Given the description of an element on the screen output the (x, y) to click on. 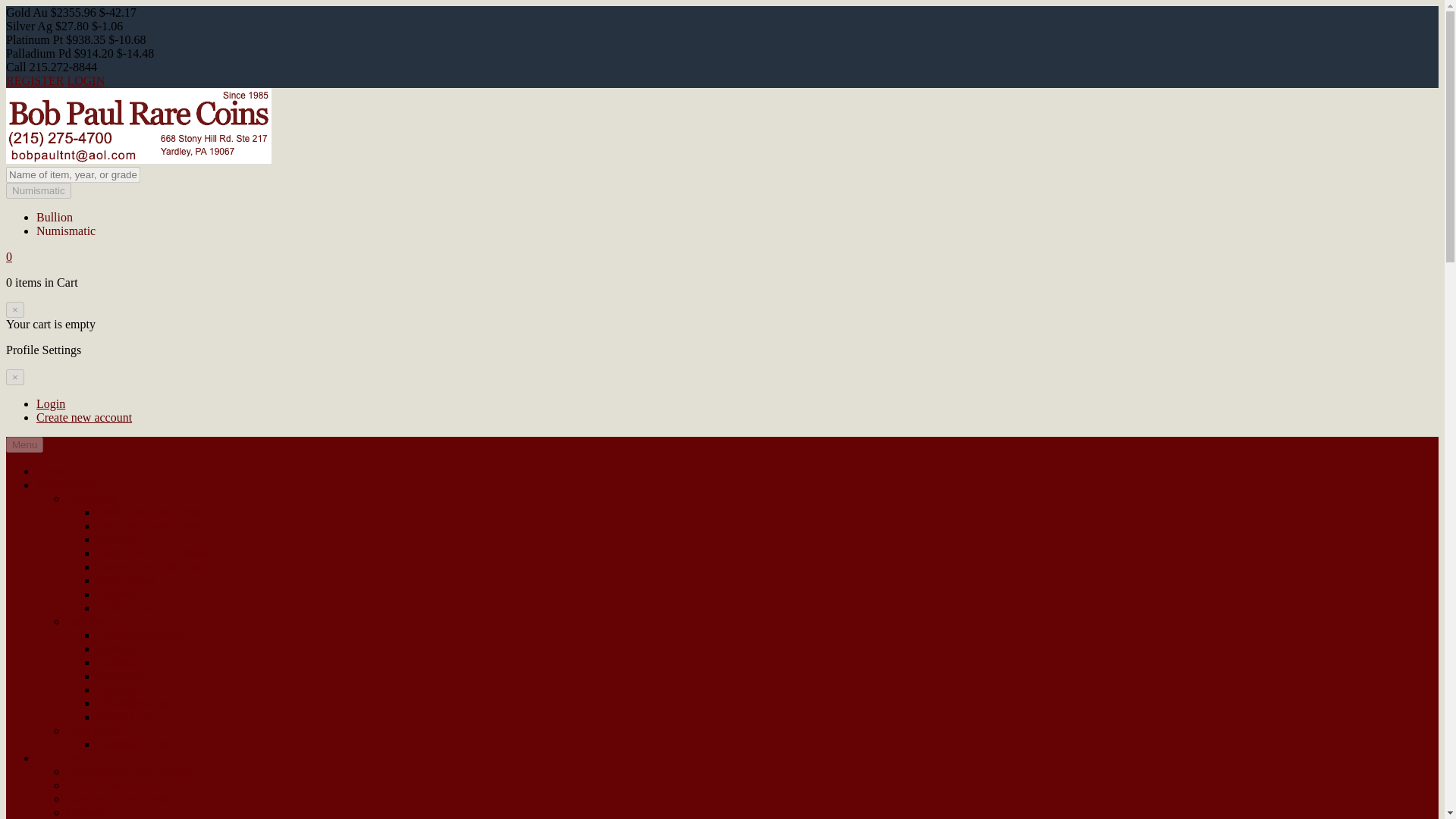
Patterns (116, 689)
Numismatic (66, 230)
Numismatic (38, 190)
Nickels (84, 812)
Two and Three Cents (118, 798)
Dollars (114, 594)
Half-Dimes and Dimes (153, 553)
Home (50, 471)
Colonials (119, 662)
Coin List (58, 757)
Half-Cents and Cents (118, 784)
Miscellaneous (132, 703)
Individual (91, 621)
Commemoratives (140, 634)
REGISTER (34, 80)
